Given the description of an element on the screen output the (x, y) to click on. 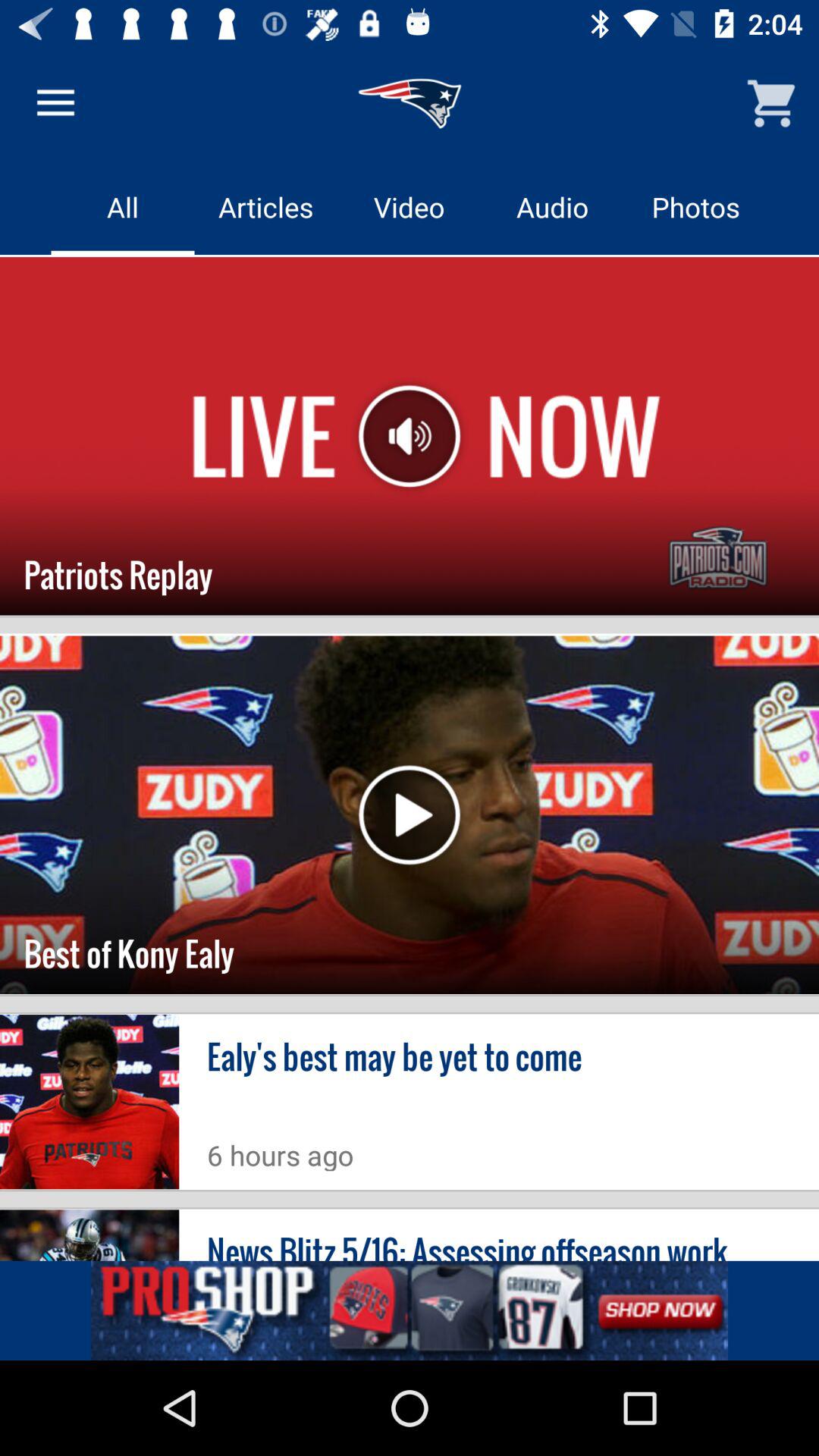
clik the add (409, 1310)
